Given the description of an element on the screen output the (x, y) to click on. 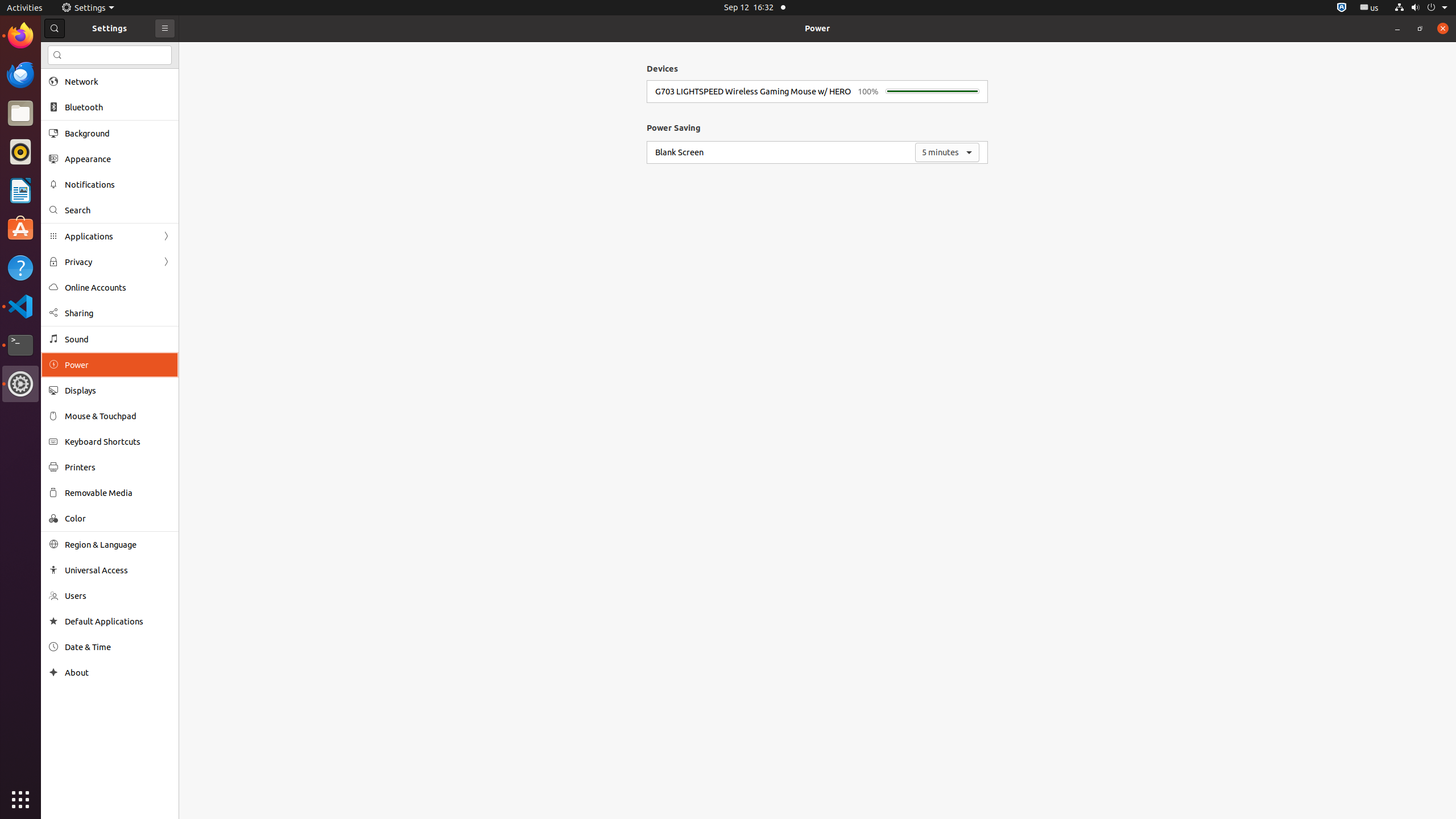
Date & Time Element type: label (117, 646)
Activities Element type: label (24, 7)
Firefox Web Browser Element type: push-button (20, 35)
Primary Menu Element type: toggle-button (164, 28)
